Given the description of an element on the screen output the (x, y) to click on. 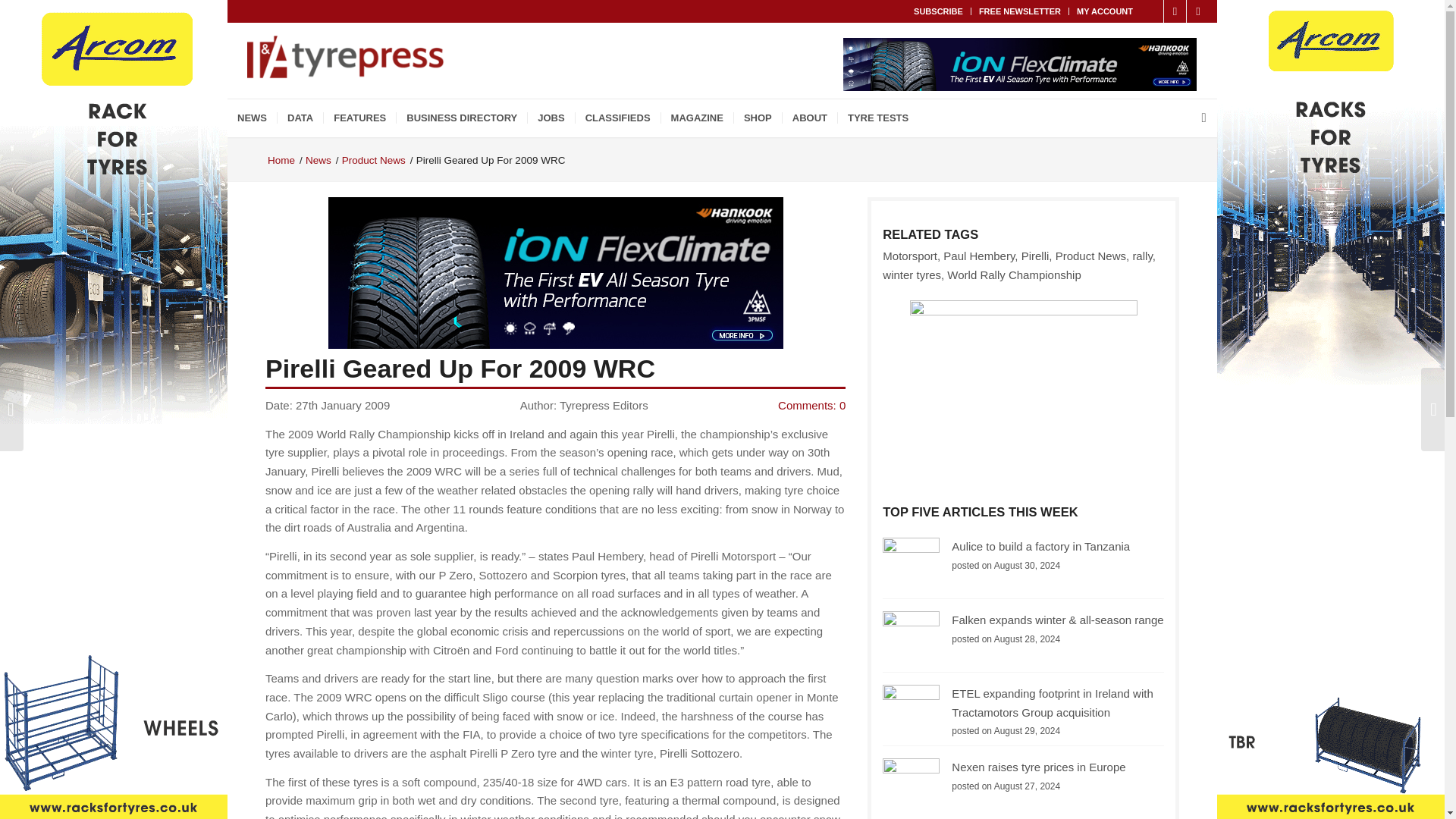
MY ACCOUNT (1104, 11)
JOBS (550, 118)
Instagram (1197, 11)
NEWS (251, 118)
Facebook (1174, 11)
Tyrepress (280, 160)
FEATURES (359, 118)
FREE NEWSLETTER (1019, 11)
Business Directory (461, 118)
SUBSCRIBE (938, 11)
